Given the description of an element on the screen output the (x, y) to click on. 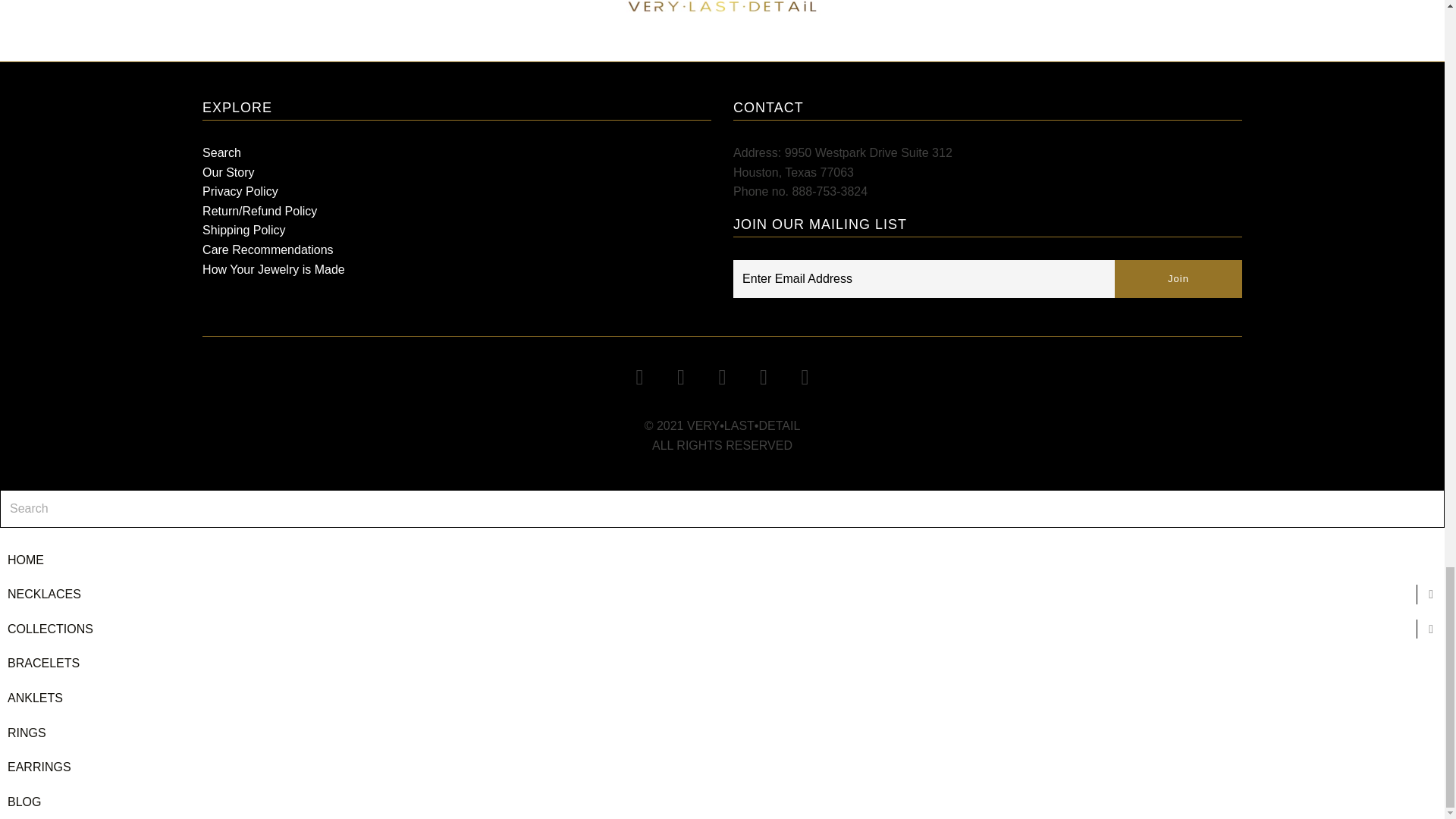
Care Recommendations (267, 249)
Our Story (227, 172)
How Your Jewelry is Made (273, 269)
Search (221, 152)
Join (1178, 279)
Join (1178, 279)
Privacy Policy (240, 191)
Shipping Policy (243, 229)
